Given the description of an element on the screen output the (x, y) to click on. 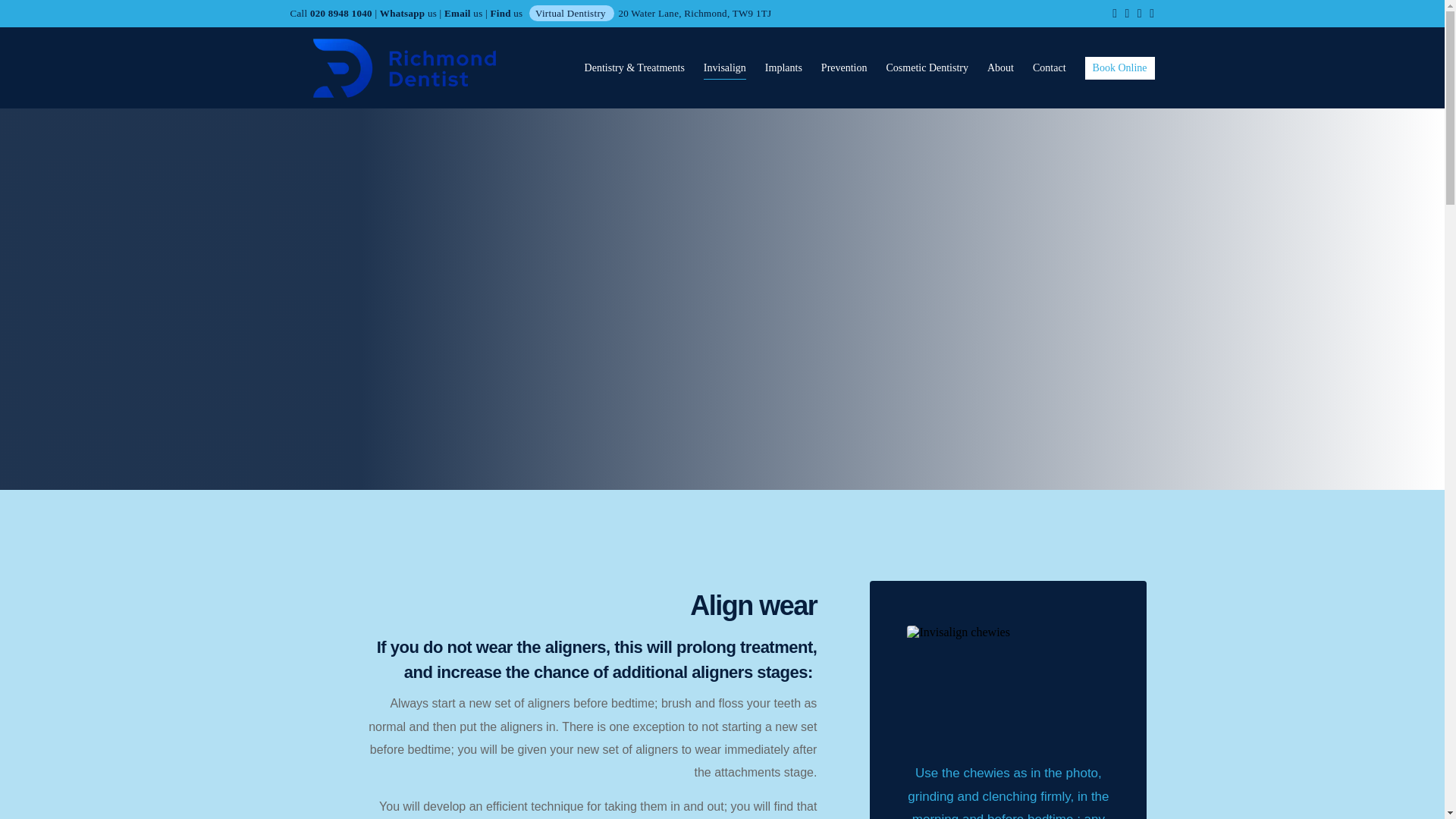
About (1000, 67)
Cosmetic Dentistry (926, 67)
Call 020 8948 1040 (330, 12)
Find us (506, 12)
Email us (462, 12)
Invisalign (724, 67)
Virtual Dentistry (570, 12)
Implants (783, 67)
Prevention (844, 67)
Whatsapp us (408, 12)
